Given the description of an element on the screen output the (x, y) to click on. 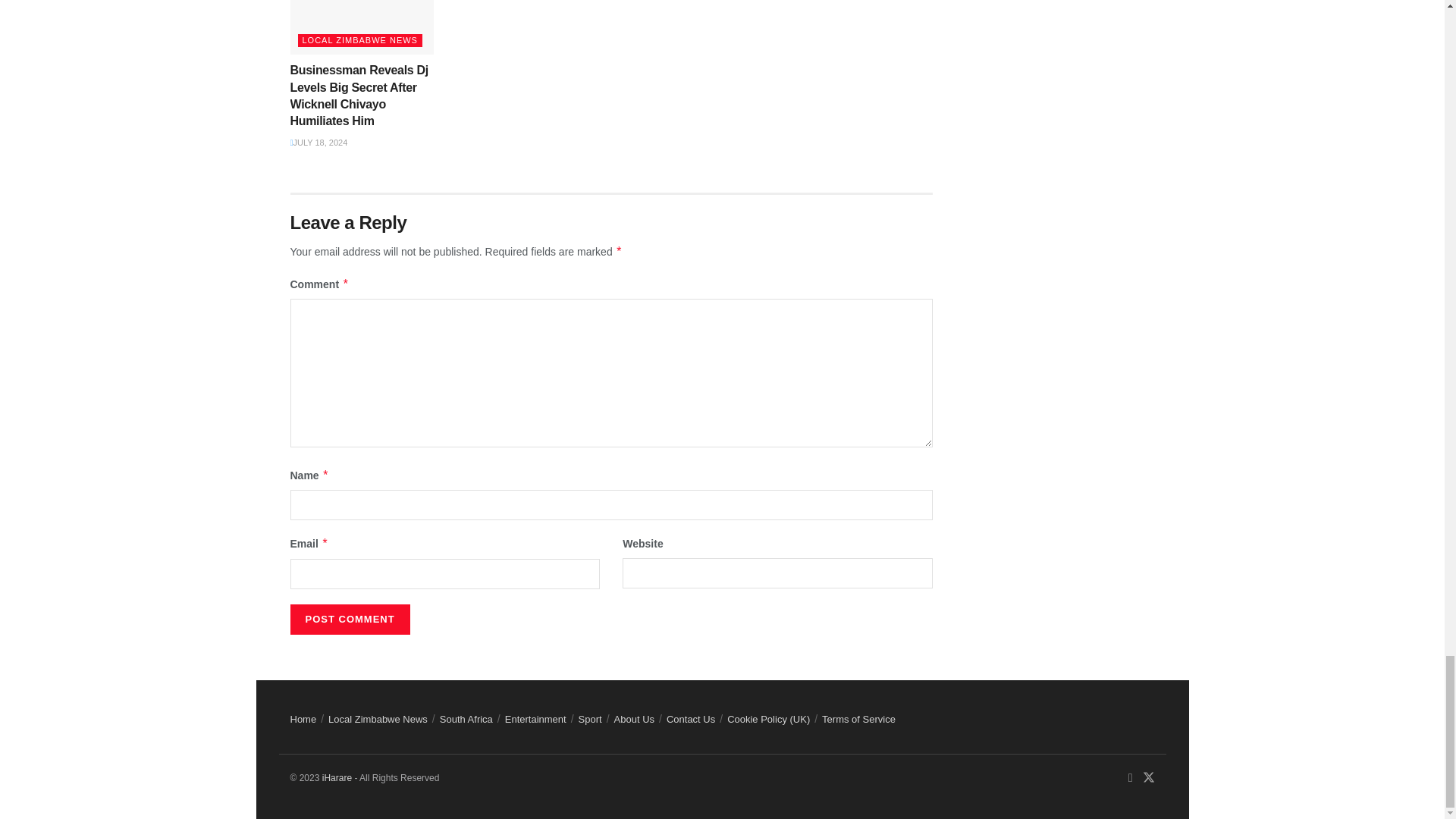
Post Comment (349, 619)
iHarare (336, 777)
